Given the description of an element on the screen output the (x, y) to click on. 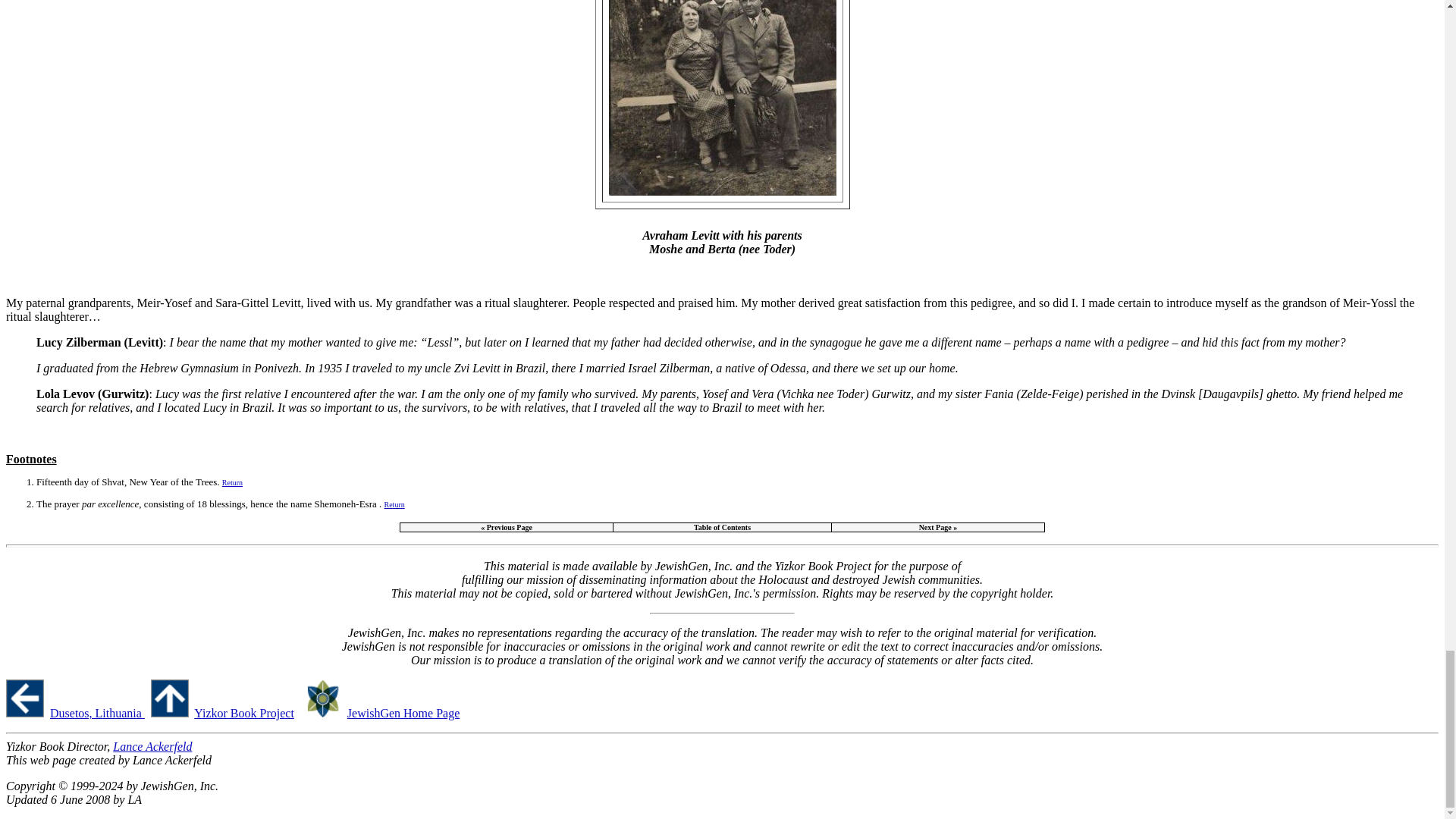
Dusetos, Lithuania (96, 712)
Table of Contents (722, 527)
Yizkor Book Project (243, 712)
JewishGen Home Page (403, 712)
Lance Ackerfeld (152, 746)
Return (394, 503)
Return (232, 481)
